Given the description of an element on the screen output the (x, y) to click on. 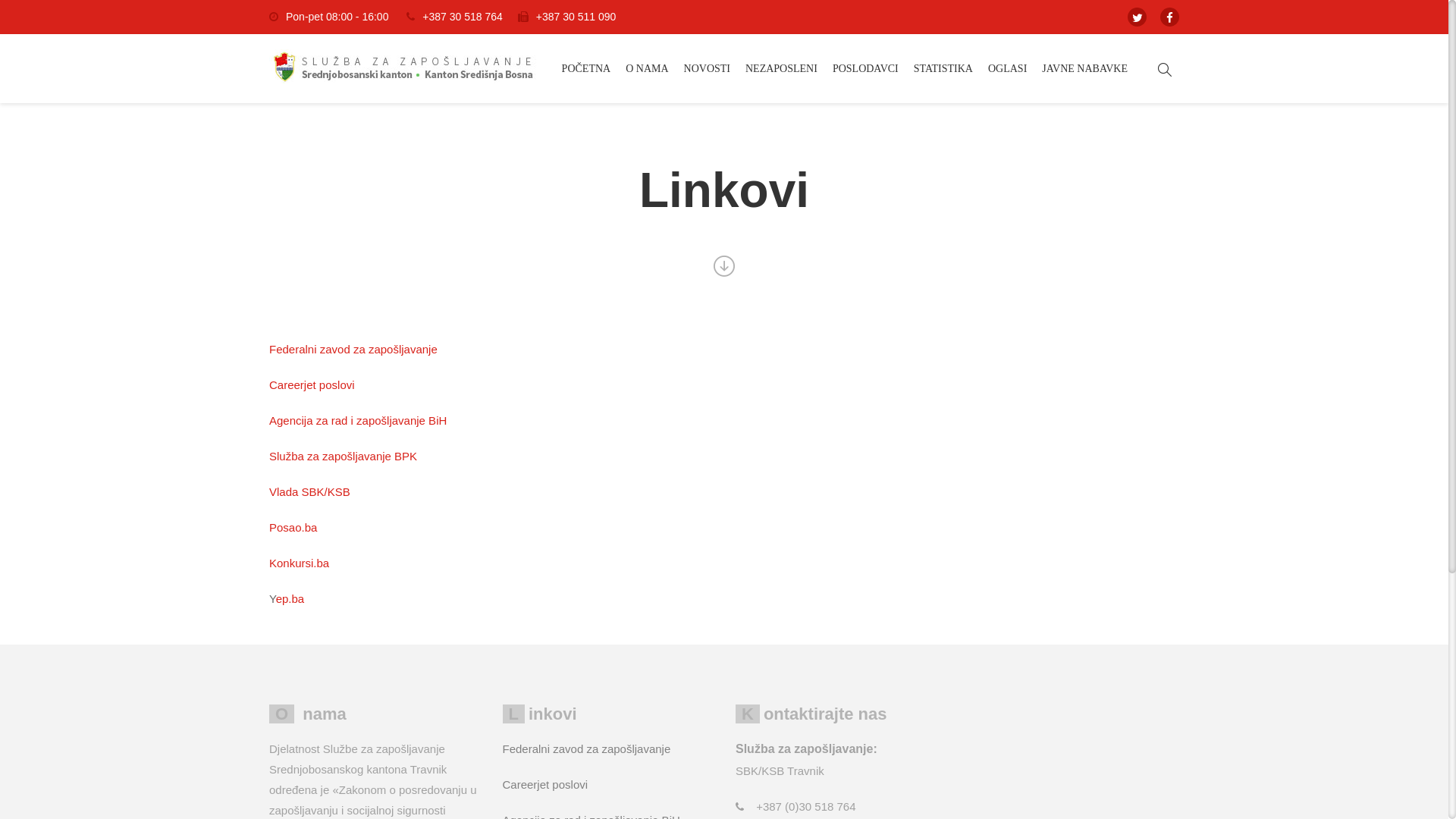
Posao.ba Element type: text (292, 526)
Konkursi.ba Element type: text (299, 562)
ep.ba Element type: text (290, 598)
NEZAPOSLENI Element type: text (781, 68)
OGLASI Element type: text (1007, 68)
NOVOSTI Element type: text (706, 68)
Vlada SBK/KSB Element type: text (309, 491)
Careerjet poslovi Element type: text (311, 384)
STATISTIKA Element type: text (943, 68)
Pretraga Element type: text (1158, 122)
JAVNE NABAVKE Element type: text (1084, 68)
Careerjet poslovi Element type: text (544, 784)
POSLODAVCI Element type: text (865, 68)
O NAMA Element type: text (646, 68)
